Given the description of an element on the screen output the (x, y) to click on. 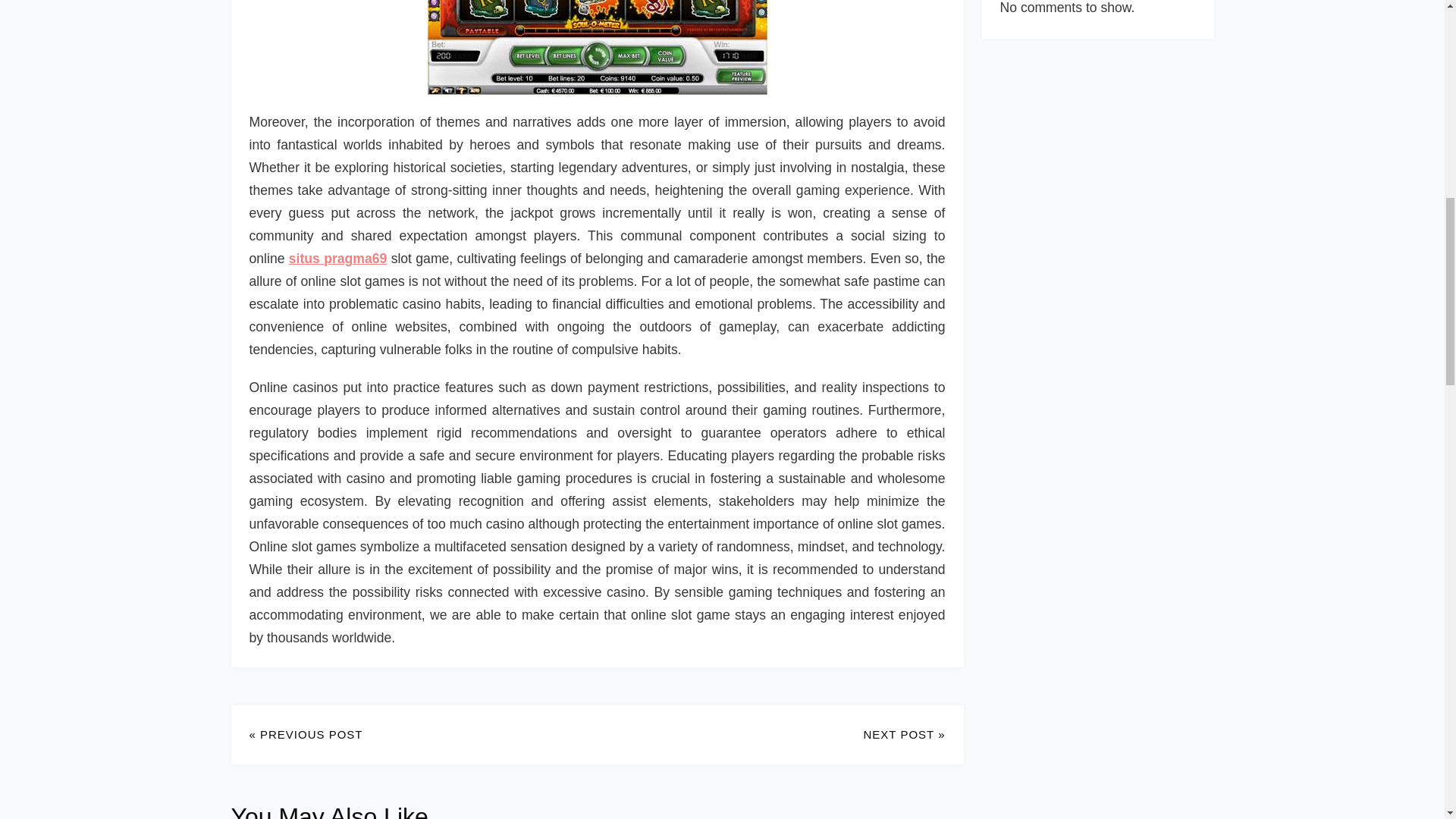
situs pragma69 (337, 258)
